Given the description of an element on the screen output the (x, y) to click on. 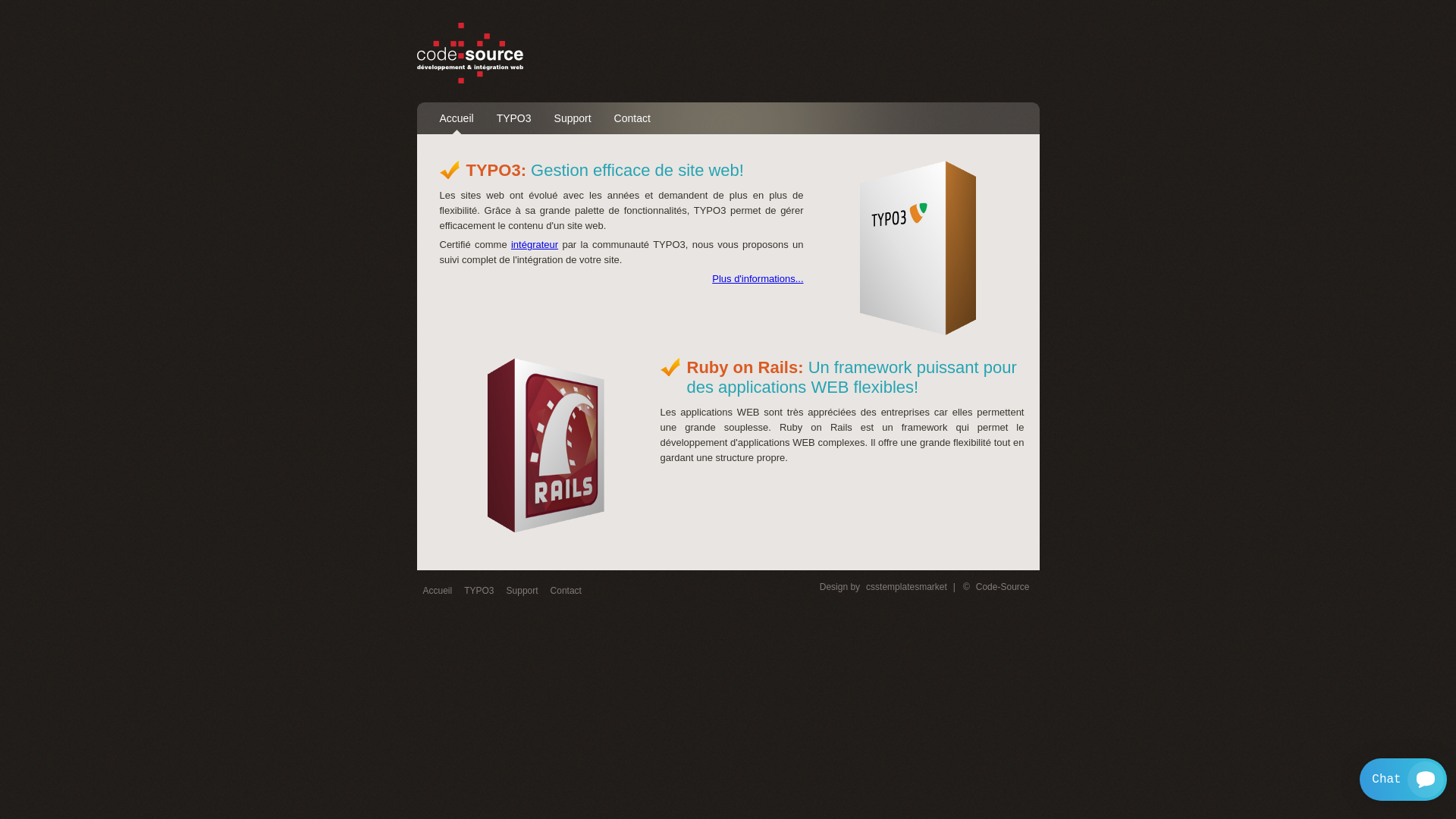
TYPO3 Element type: text (513, 118)
Support Element type: text (572, 118)
Support Element type: text (522, 590)
Accueil Element type: text (455, 118)
Code-Source Element type: text (1002, 586)
Contact Element type: text (565, 590)
Smartsupp widget button Element type: hover (1402, 779)
csstemplatesmarket Element type: text (906, 586)
Accueil Element type: text (437, 590)
Plus d'informations... Element type: text (757, 278)
TYPO3 Element type: text (478, 590)
Contact Element type: text (632, 118)
